Given the description of an element on the screen output the (x, y) to click on. 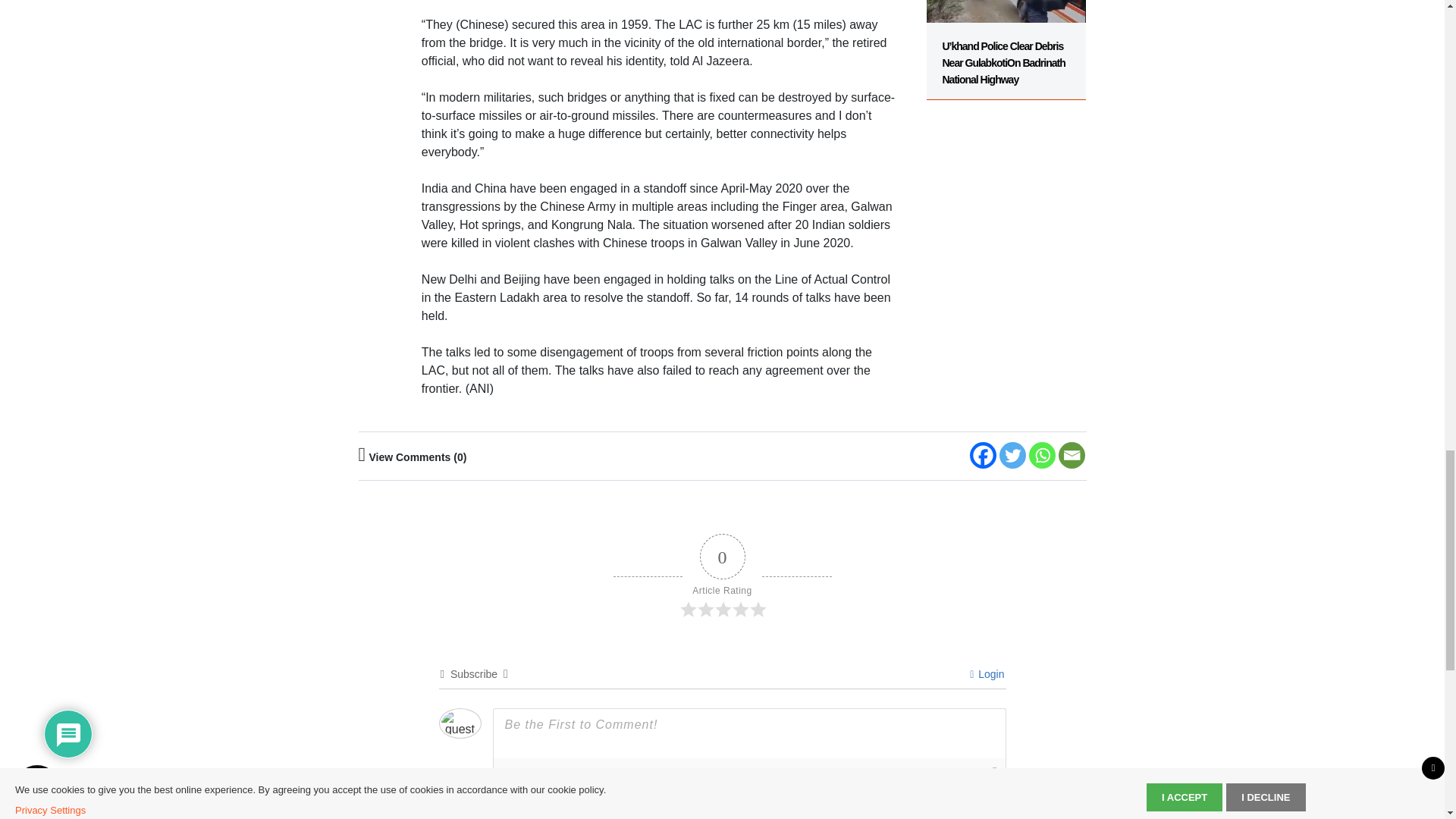
Login (986, 674)
